Given the description of an element on the screen output the (x, y) to click on. 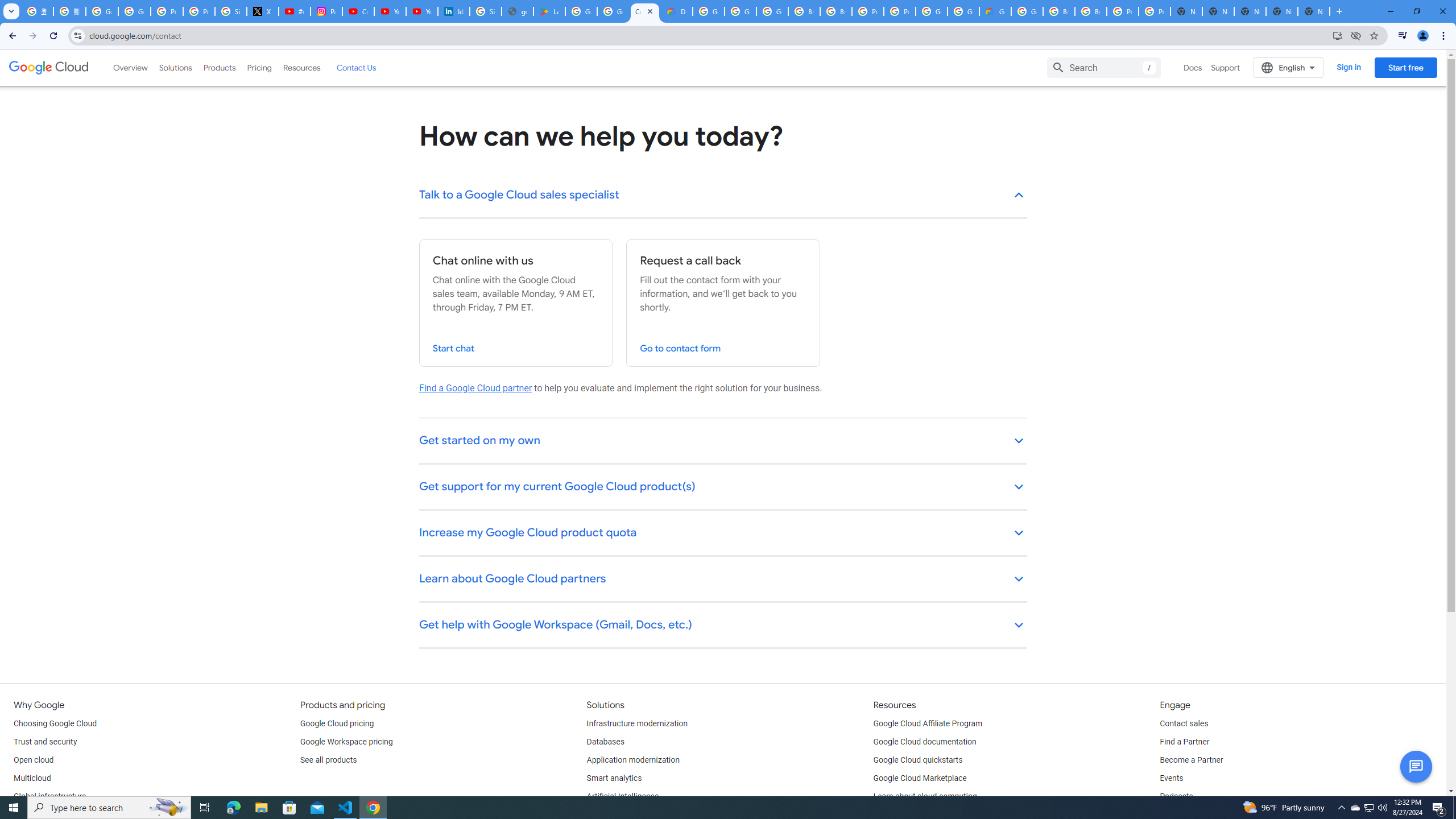
Learn about cloud computing (924, 796)
Application modernization (632, 760)
View site information (77, 35)
Address and search bar (707, 35)
Google Cloud Platform (963, 11)
Smart analytics (614, 778)
Reload (52, 35)
YouTube Culture & Trends - YouTube Top 10, 2021 (421, 11)
Google Cloud pricing (336, 723)
Close (650, 11)
Third-party cookies blocked (1355, 35)
System (6, 6)
